Given the description of an element on the screen output the (x, y) to click on. 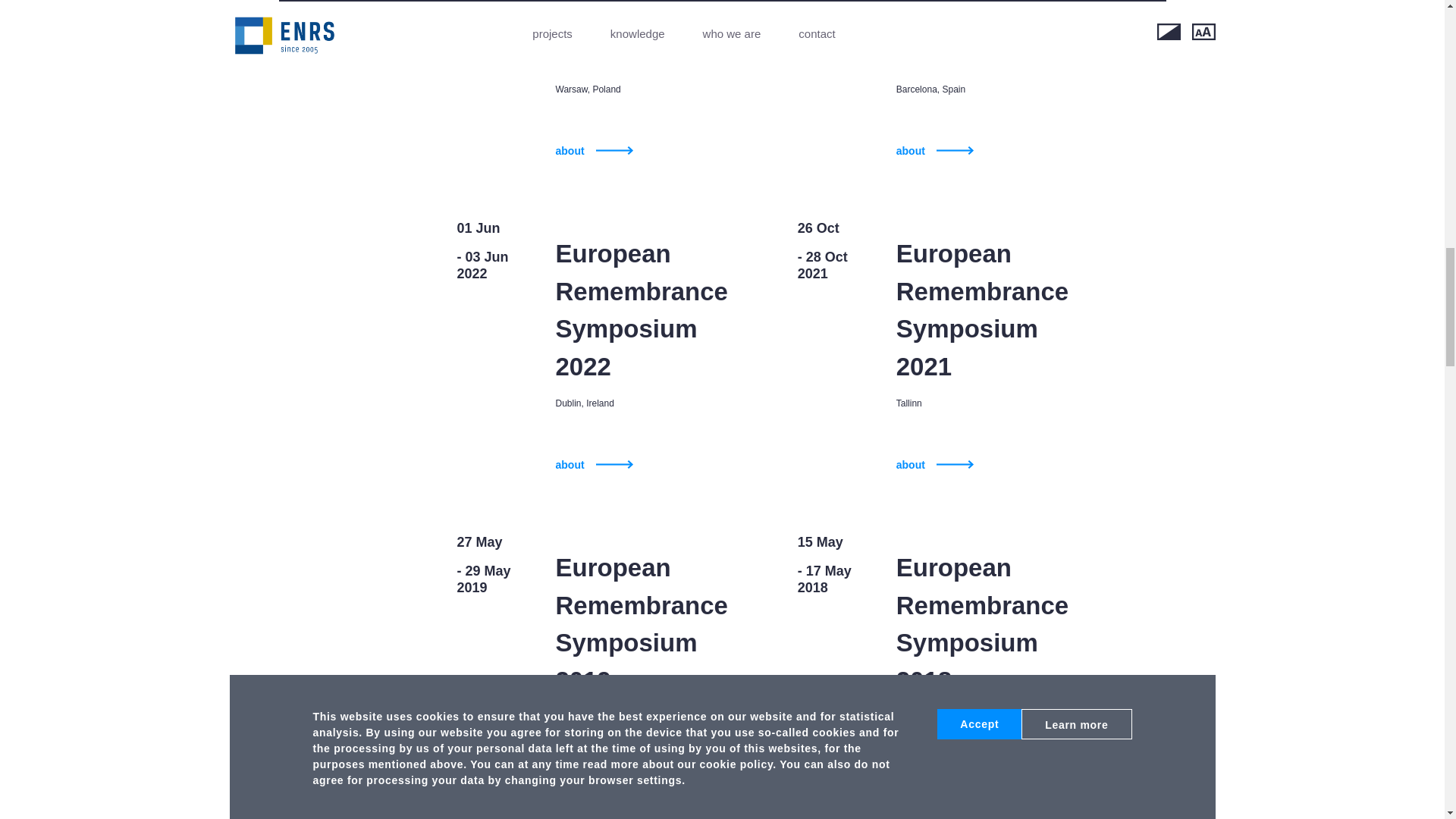
about (935, 465)
about (592, 465)
about (935, 150)
about (592, 150)
about (592, 779)
